Given the description of an element on the screen output the (x, y) to click on. 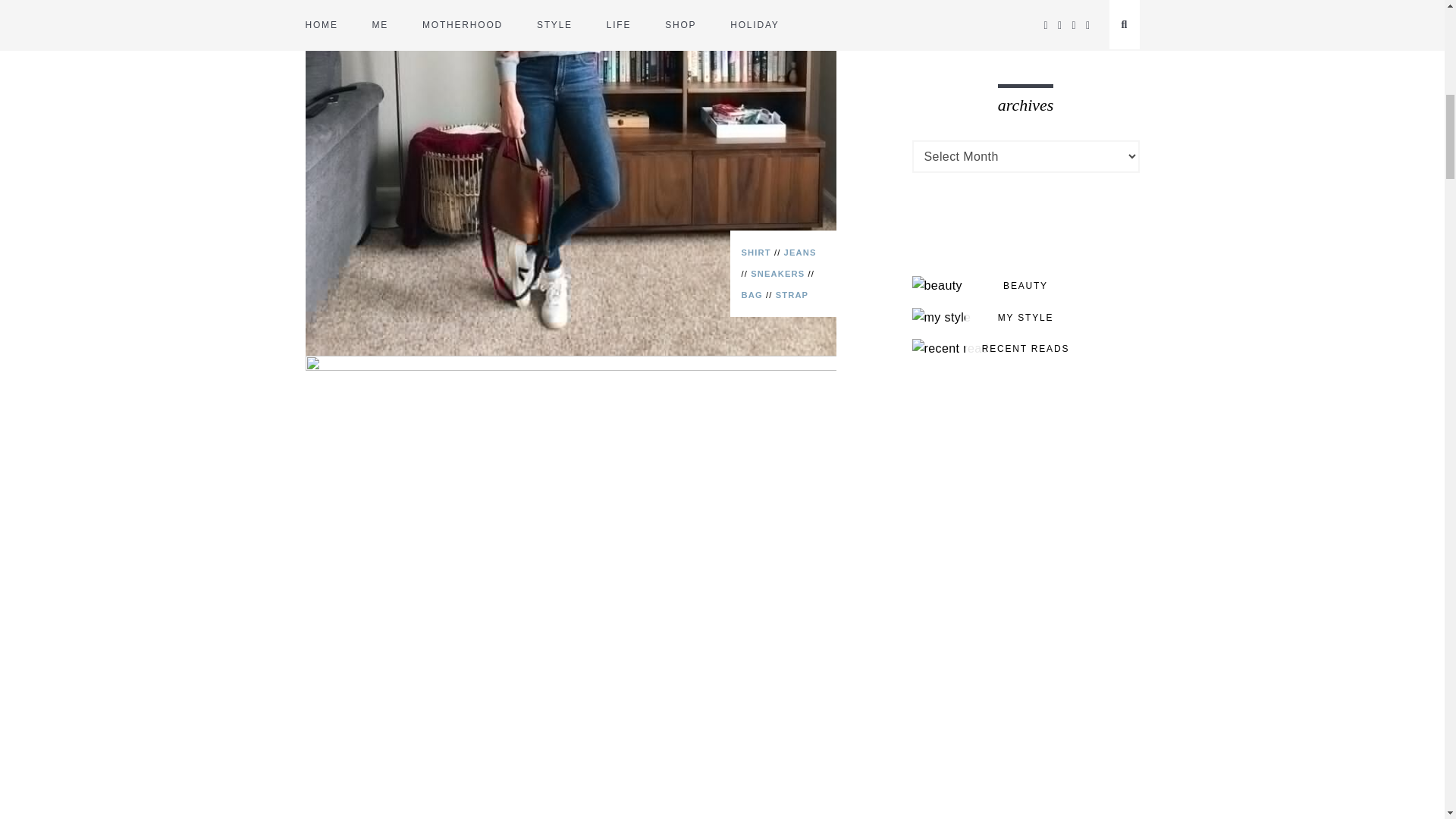
JEANS (800, 252)
STRAP (792, 294)
SHIRT (756, 252)
SNEAKERS (778, 273)
BAG (751, 294)
